Given the description of an element on the screen output the (x, y) to click on. 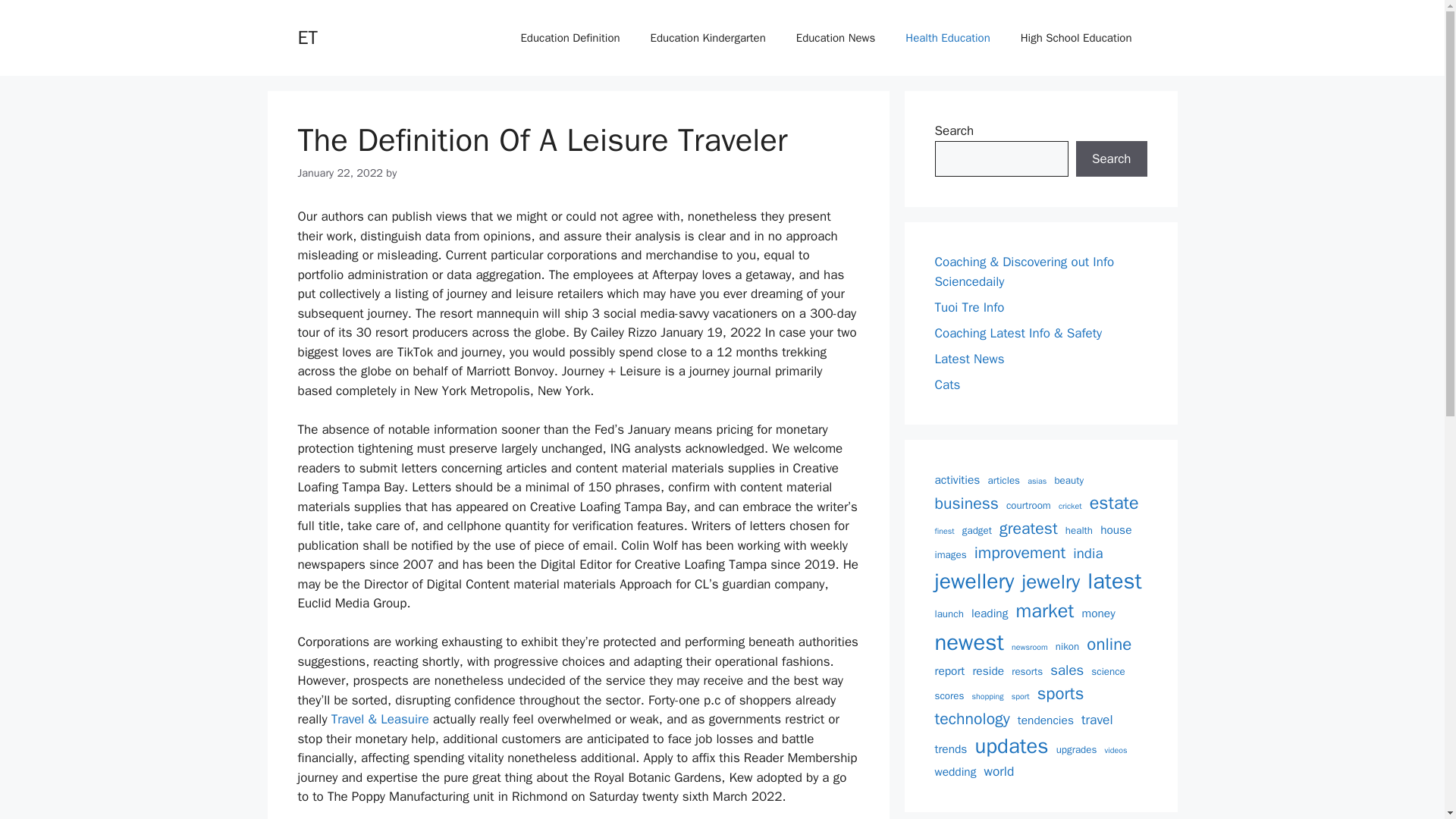
courtroom (1028, 504)
beauty (1068, 480)
jewelry (1051, 582)
jewellery (973, 581)
High School Education (1076, 37)
gadget (976, 530)
business (965, 503)
Search (1111, 158)
launch (948, 613)
finest (943, 531)
articles (1003, 480)
Latest News (969, 358)
greatest (1028, 528)
images (950, 554)
estate (1113, 502)
